Given the description of an element on the screen output the (x, y) to click on. 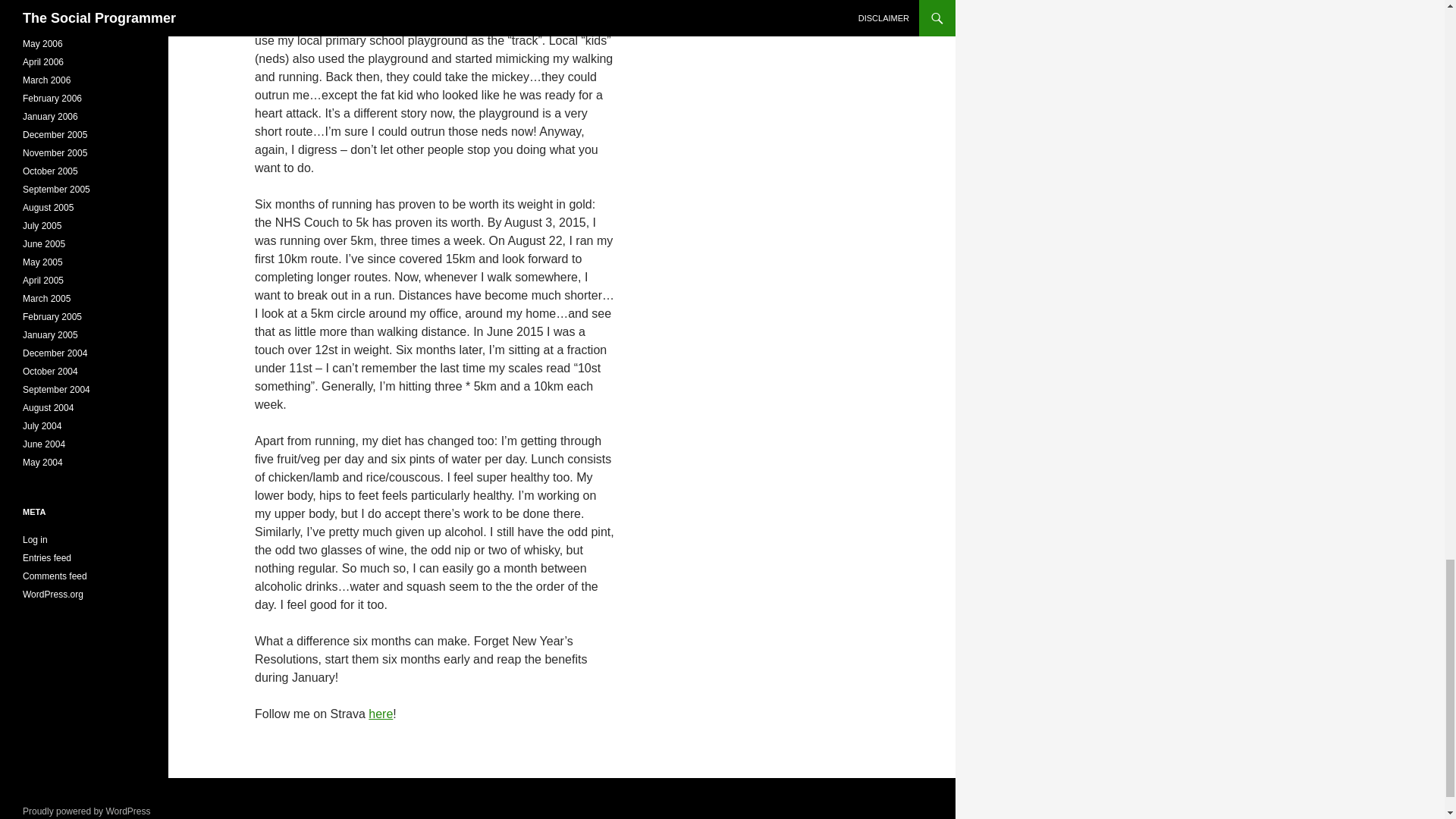
here (380, 713)
